Given the description of an element on the screen output the (x, y) to click on. 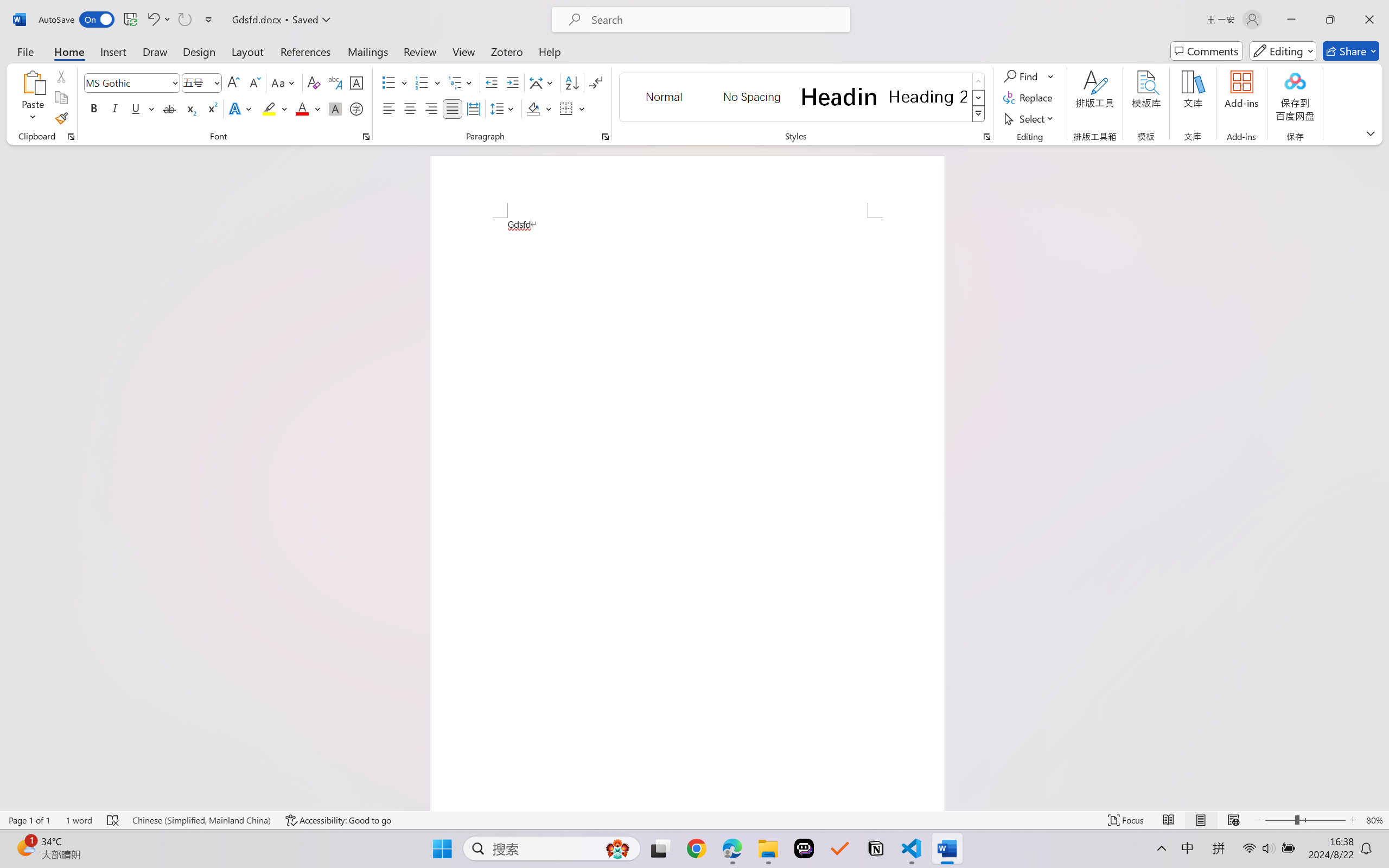
Class: MsoCommandBar (694, 819)
